Given the description of an element on the screen output the (x, y) to click on. 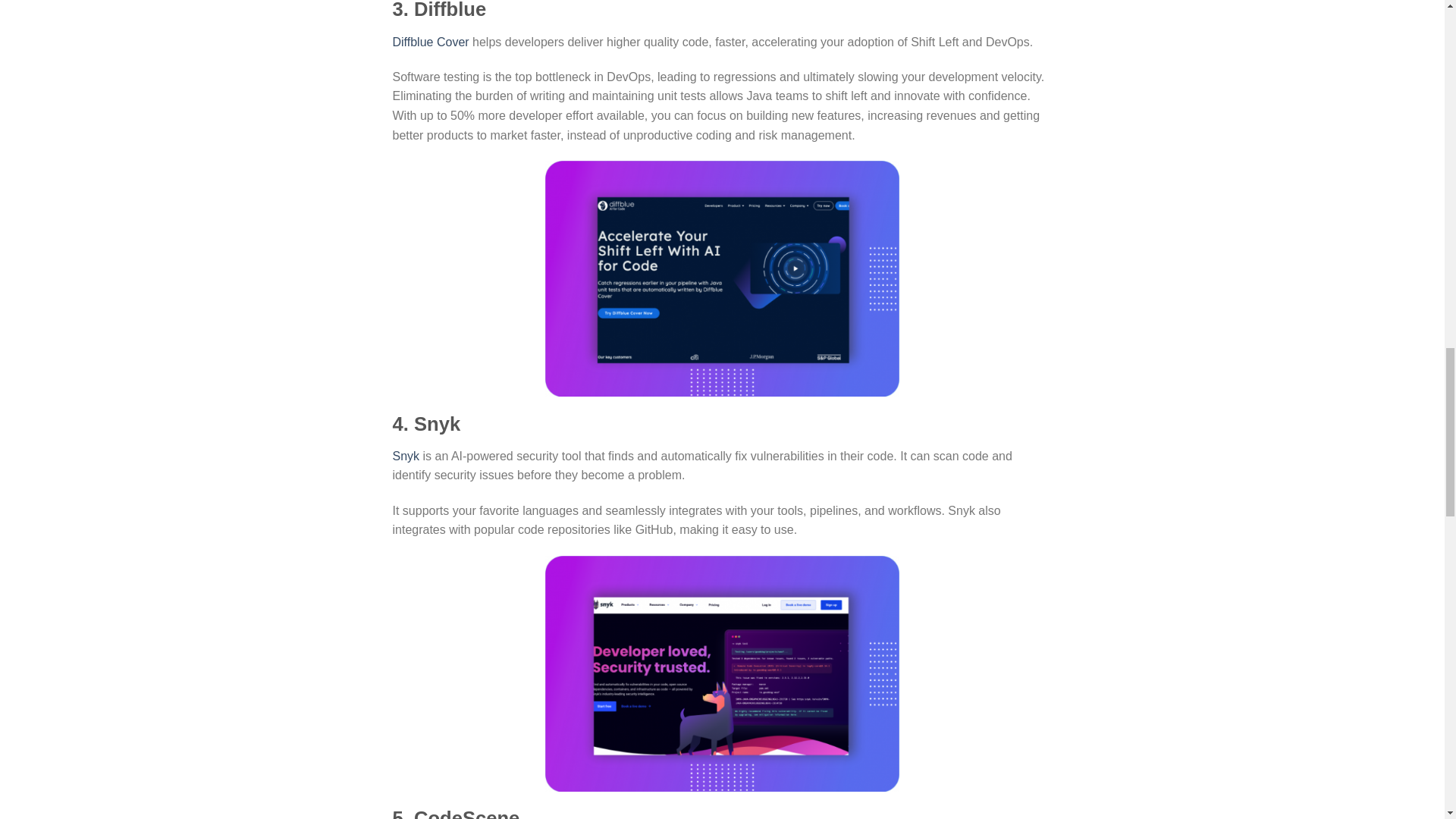
Snyk (406, 455)
Cover (452, 41)
Diffblue (413, 41)
